Given the description of an element on the screen output the (x, y) to click on. 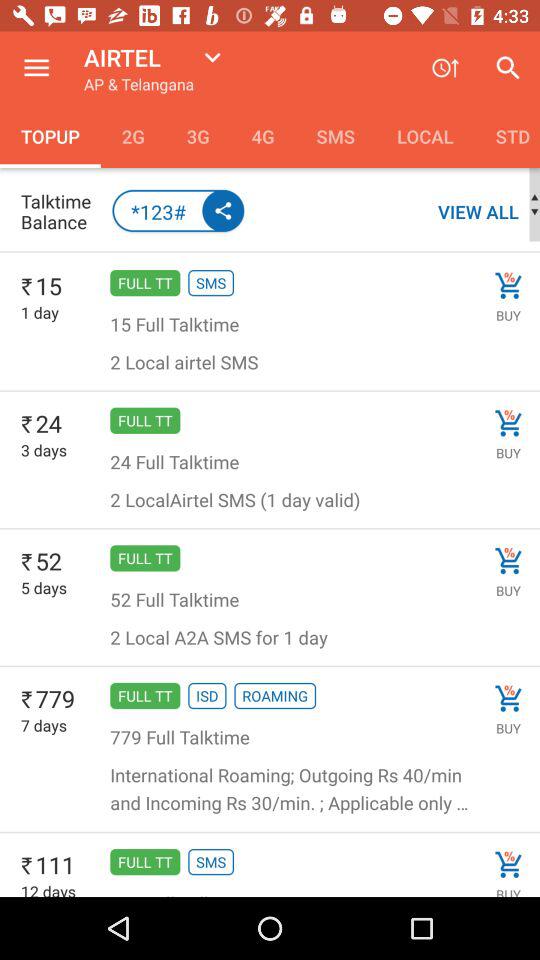
tap the icon next to airtel item (36, 68)
